Given the description of an element on the screen output the (x, y) to click on. 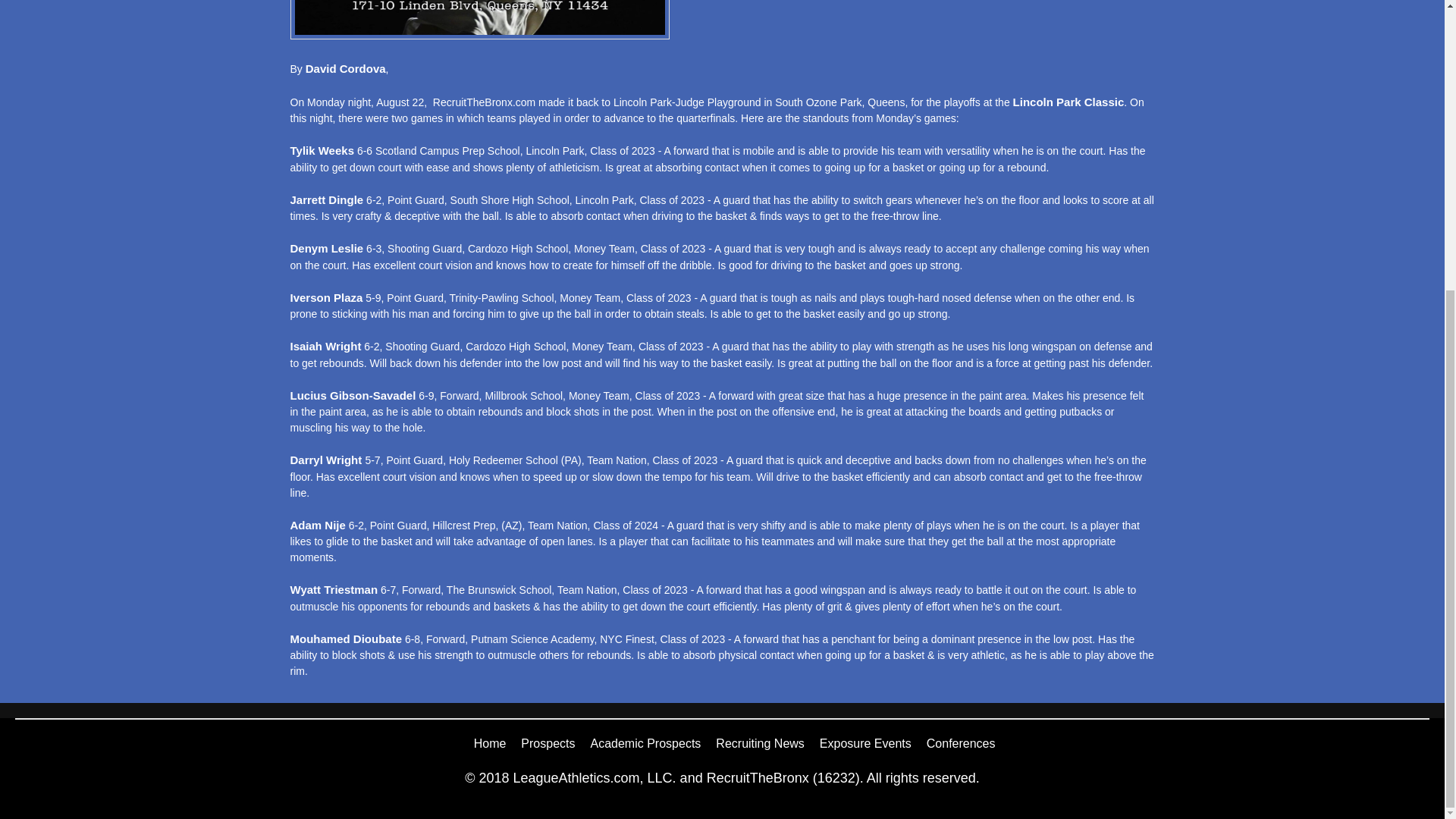
Adam Nije (317, 524)
Mouhamed Dioubate (345, 637)
Academic Prospects (644, 743)
Prospects (548, 743)
Denym Leslie (325, 248)
Lincoln Park Classic (1068, 100)
Iverson Plaza (325, 296)
Exposure Events (865, 743)
Lucius Gibson-Savadel (351, 395)
Isaiah Wright (325, 345)
